Given the description of an element on the screen output the (x, y) to click on. 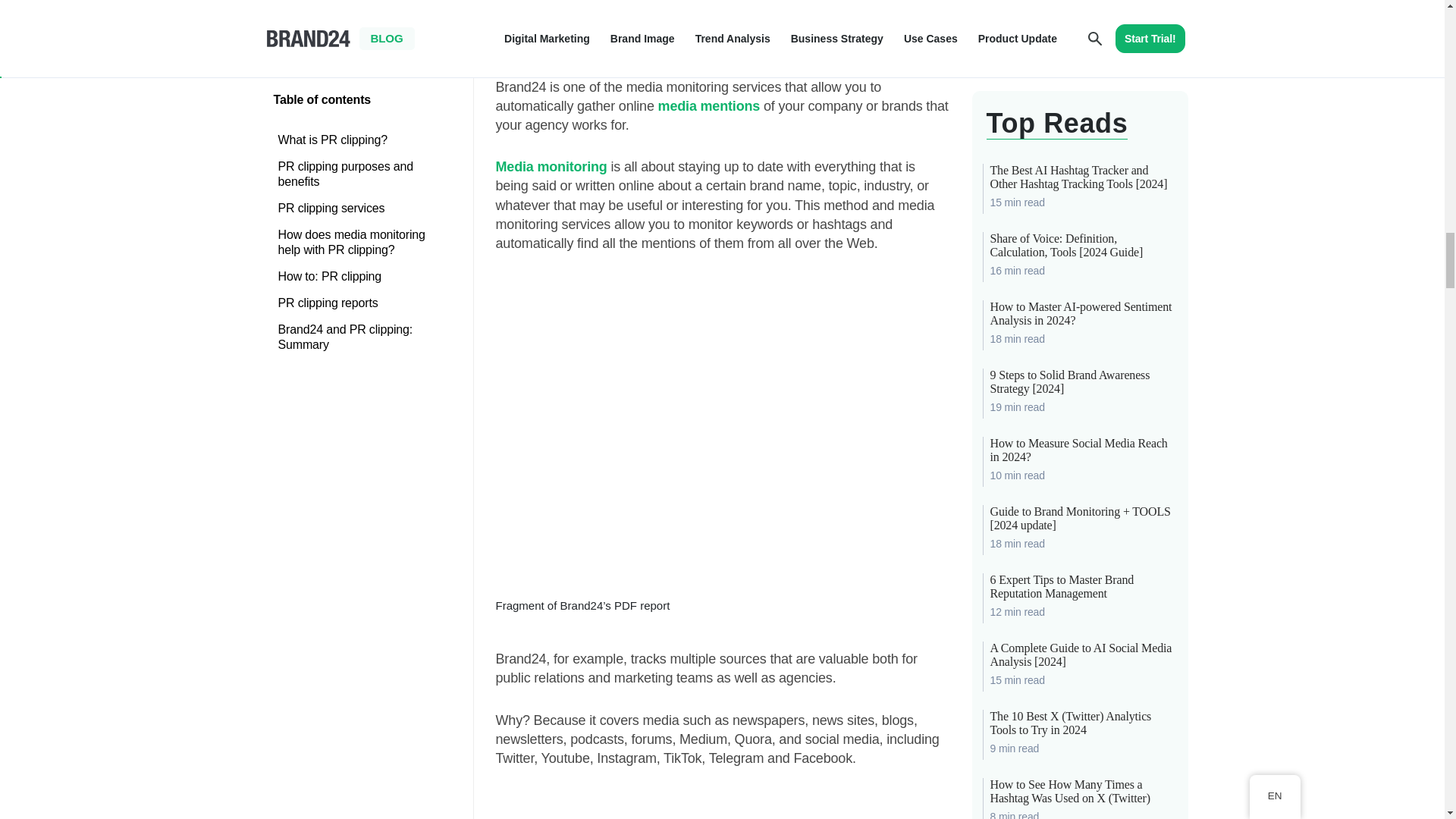
media mentions (709, 105)
